Given the description of an element on the screen output the (x, y) to click on. 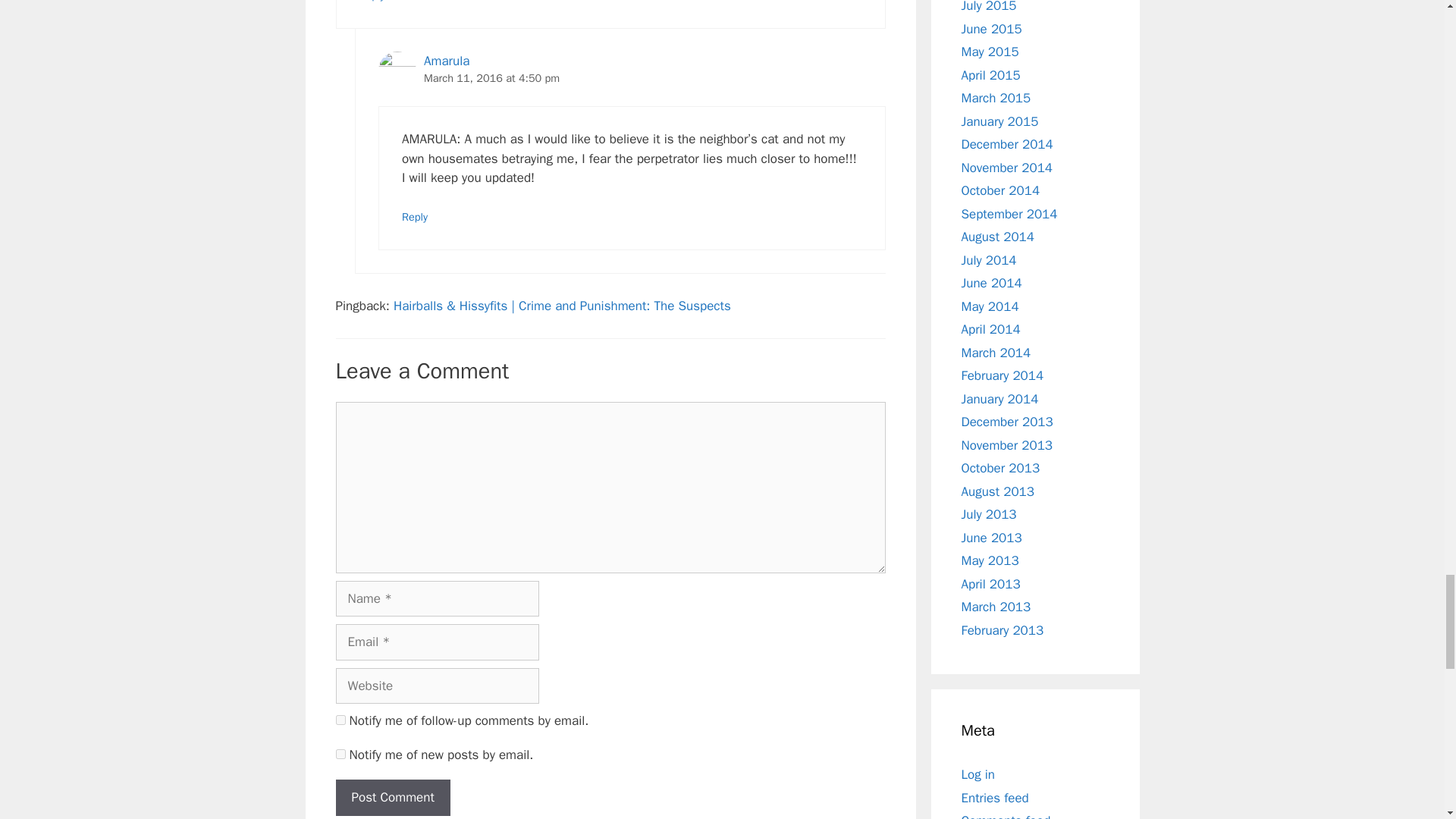
subscribe (339, 754)
Post Comment (391, 797)
subscribe (339, 719)
